Given the description of an element on the screen output the (x, y) to click on. 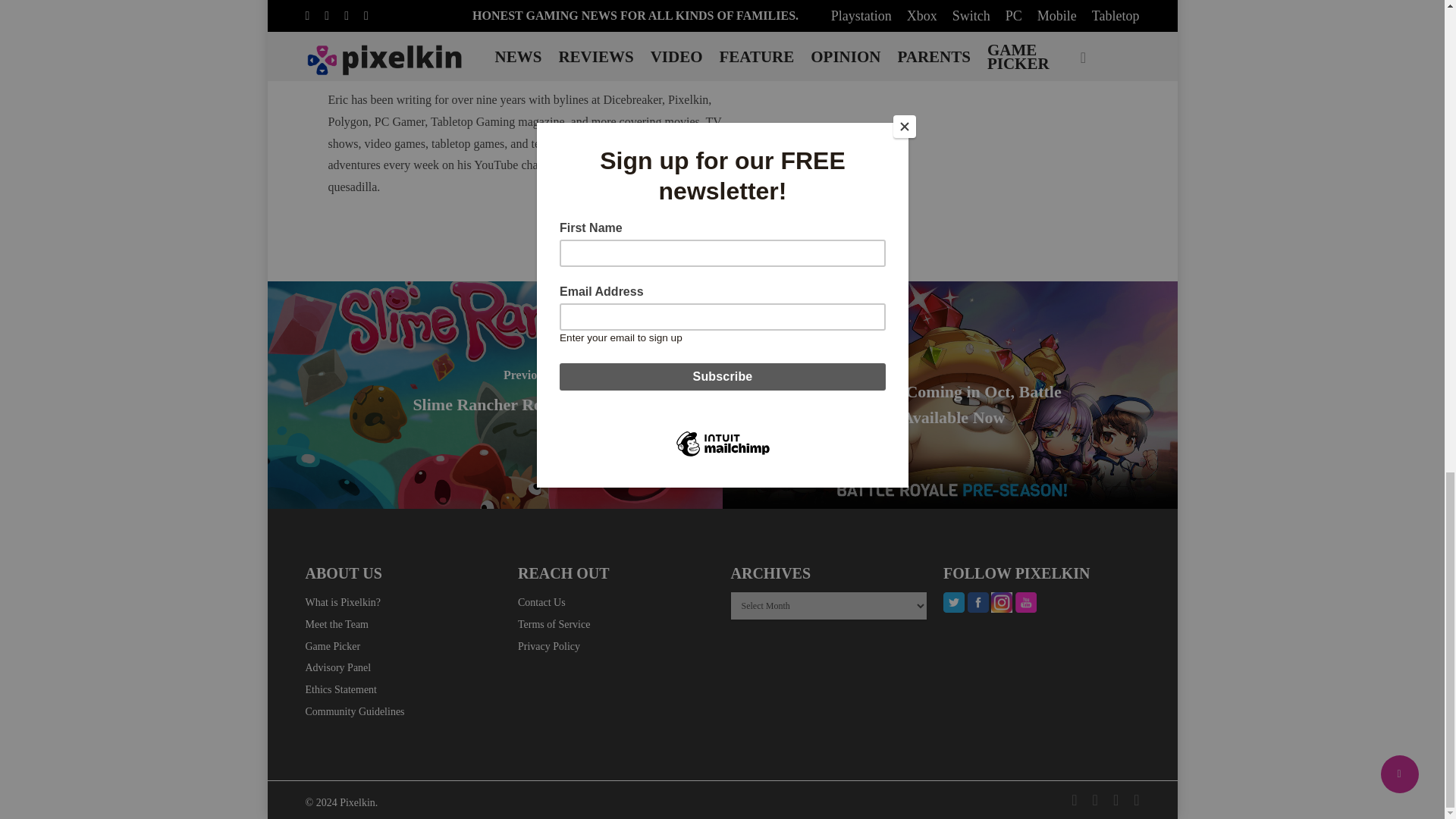
Posts by Eric Watson (522, 70)
